Given the description of an element on the screen output the (x, y) to click on. 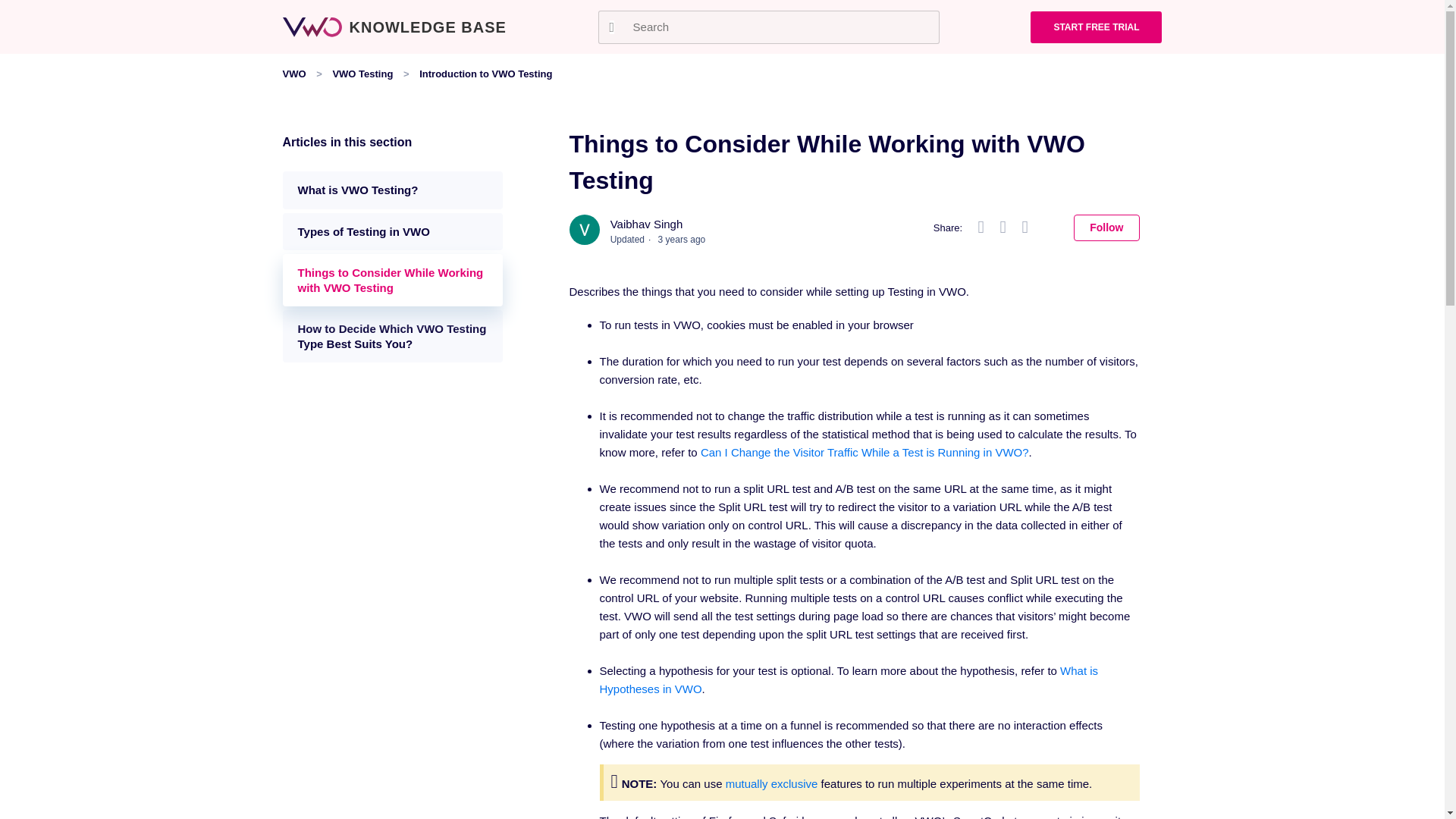
VWO (293, 73)
START FREE TRIAL (1095, 26)
VWO Testing (352, 73)
KNOWLEDGE BASE (393, 26)
LinkedIn (1023, 227)
Twitter (1001, 227)
VWO (295, 73)
Introduction to VWO Testing (485, 73)
Follow (1106, 227)
What is Hypotheses in VWO (847, 679)
What is VWO Testing? (392, 190)
VWO Testing (362, 73)
mutually exclusive (771, 783)
Introduction to VWO Testing (473, 73)
